Given the description of an element on the screen output the (x, y) to click on. 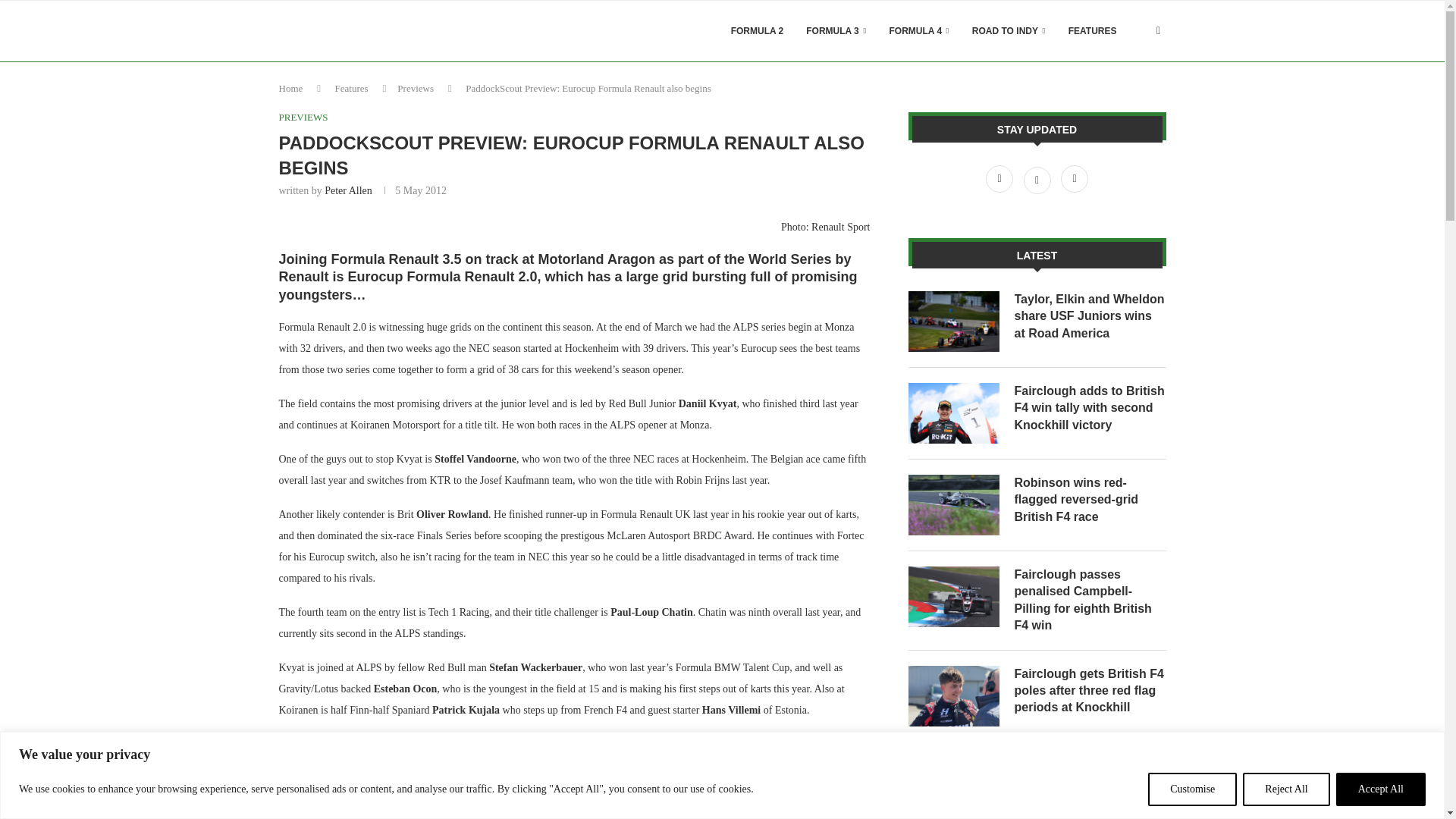
PREVIEWS (304, 117)
Robinson wins red-flagged reversed-grid British F4 race (953, 505)
Customise (1192, 788)
Previews (415, 88)
Reject All (1286, 788)
